Given the description of an element on the screen output the (x, y) to click on. 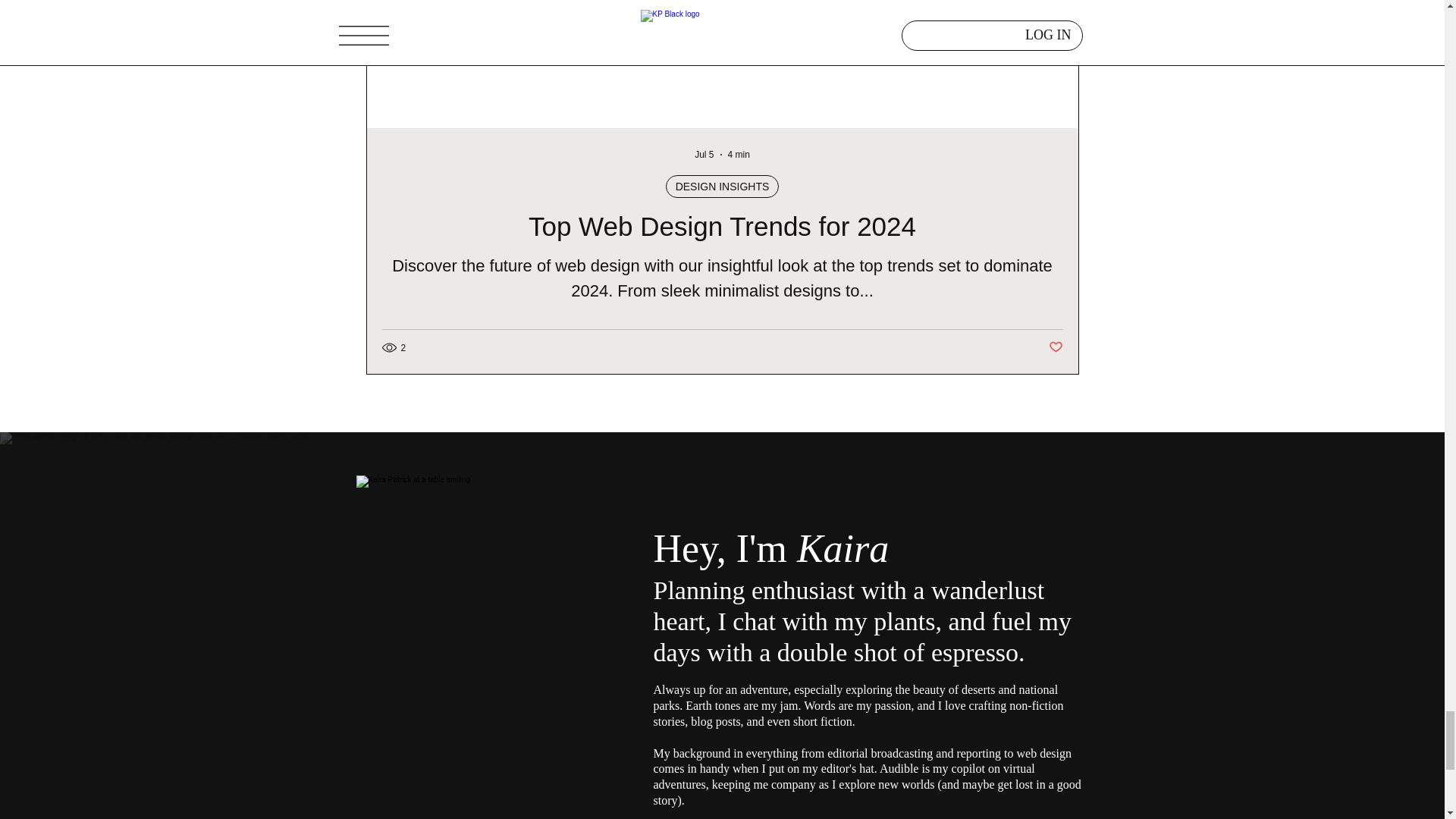
4 min (738, 154)
Post not marked as liked (1055, 347)
Top Web Design Trends for 2024 (721, 226)
Jul 5 (703, 154)
DESIGN INSIGHTS (721, 187)
